Given the description of an element on the screen output the (x, y) to click on. 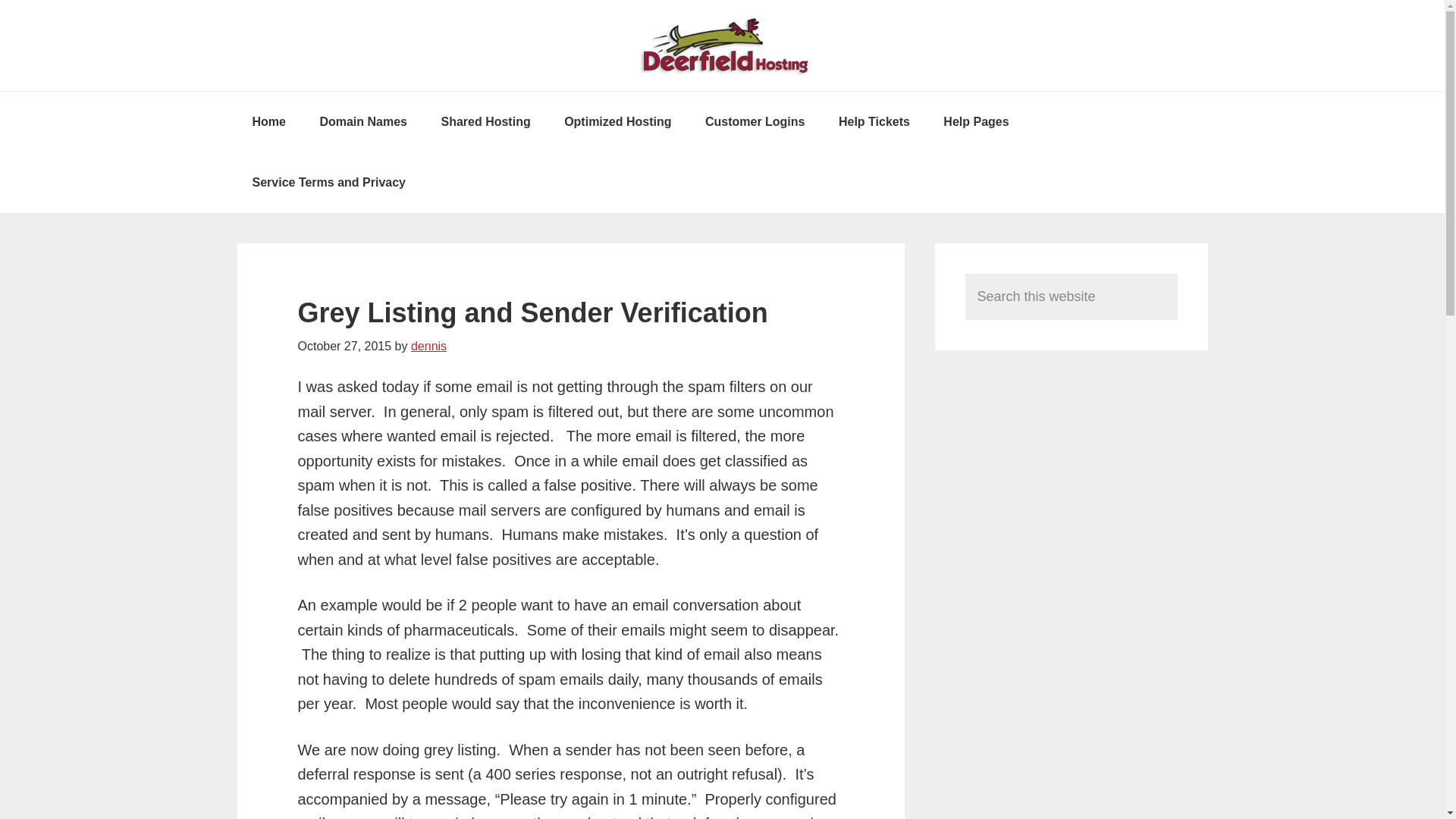
Service Terms and Privacy (327, 182)
Optimized Hosting (616, 121)
Shared Hosting (484, 121)
Domain Names (363, 121)
Deerfield Hosting, Inc. (721, 45)
dennis (428, 345)
Customer Logins (755, 121)
